Given the description of an element on the screen output the (x, y) to click on. 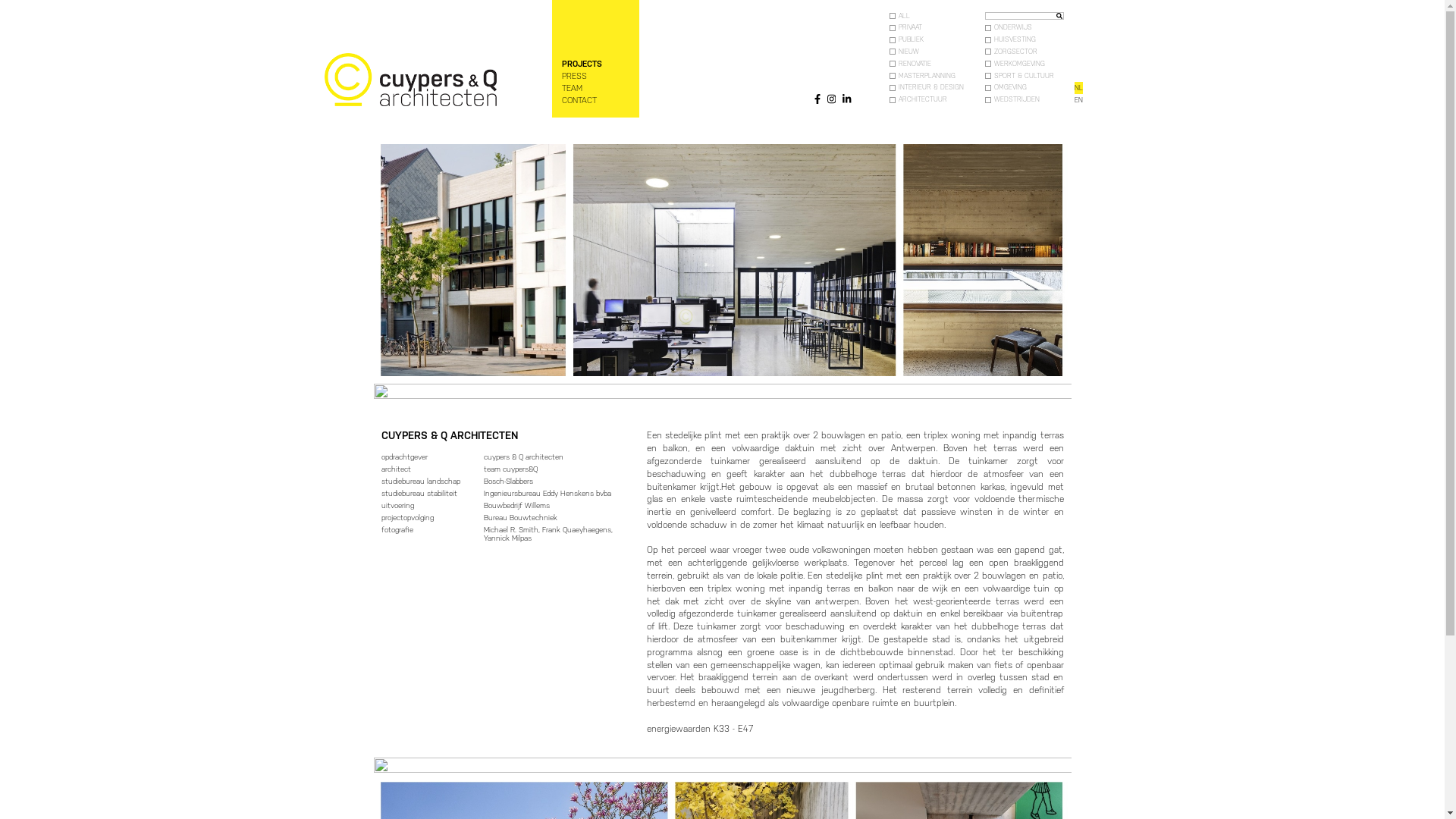
CONTACT Element type: text (578, 100)
PROJECTS Element type: text (581, 64)
EN Element type: text (1077, 100)
TEAM Element type: text (571, 88)
gestapelde stad Element type: text (916, 638)
NL Element type: text (1077, 87)
PRESS Element type: text (573, 76)
